Given the description of an element on the screen output the (x, y) to click on. 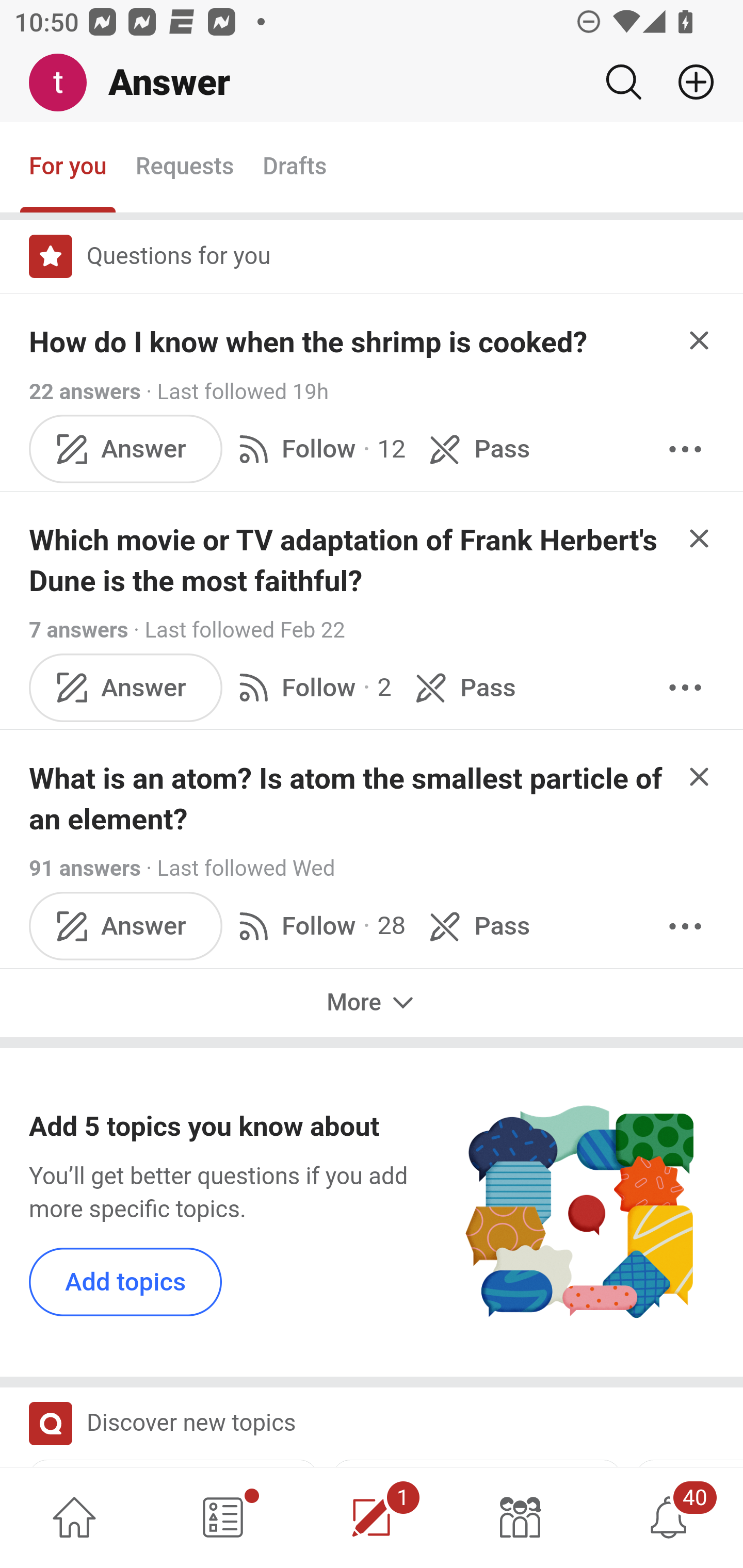
Me (64, 83)
Search (623, 82)
Add (688, 82)
For you (68, 167)
Requests (183, 167)
Drafts (295, 167)
Hide (699, 340)
How do I know when the shrimp is cooked? (308, 342)
22 answers 22  answers (84, 390)
Answer (125, 448)
Follow · 12 (317, 448)
Pass (476, 448)
More (684, 448)
Hide (699, 537)
7 answers 7  answers (79, 629)
Answer (125, 687)
Follow · 2 (311, 687)
Pass (461, 687)
More (684, 687)
Hide (699, 776)
91 answers 91  answers (84, 868)
Answer (125, 925)
Follow · 28 (317, 925)
Pass (476, 925)
More (684, 925)
More (371, 1002)
Add topics (125, 1281)
40 (668, 1517)
